Given the description of an element on the screen output the (x, y) to click on. 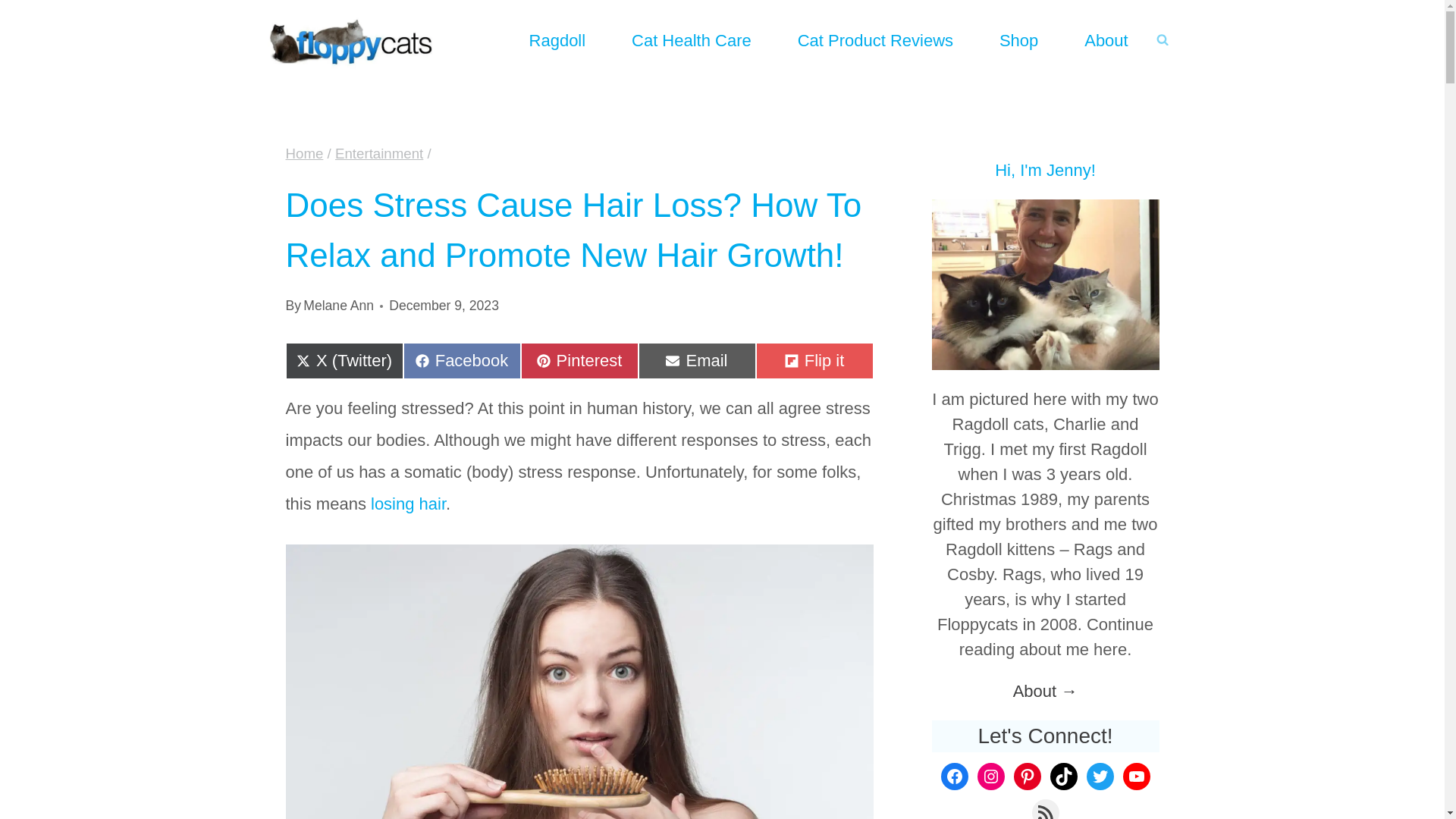
Shop (1018, 39)
Entertainment (378, 153)
losing hair (408, 503)
Cat Health Care (692, 39)
Ragdoll (557, 39)
Home (304, 153)
Melane Ann (338, 305)
Cat Product Reviews (462, 361)
About (578, 361)
